Given the description of an element on the screen output the (x, y) to click on. 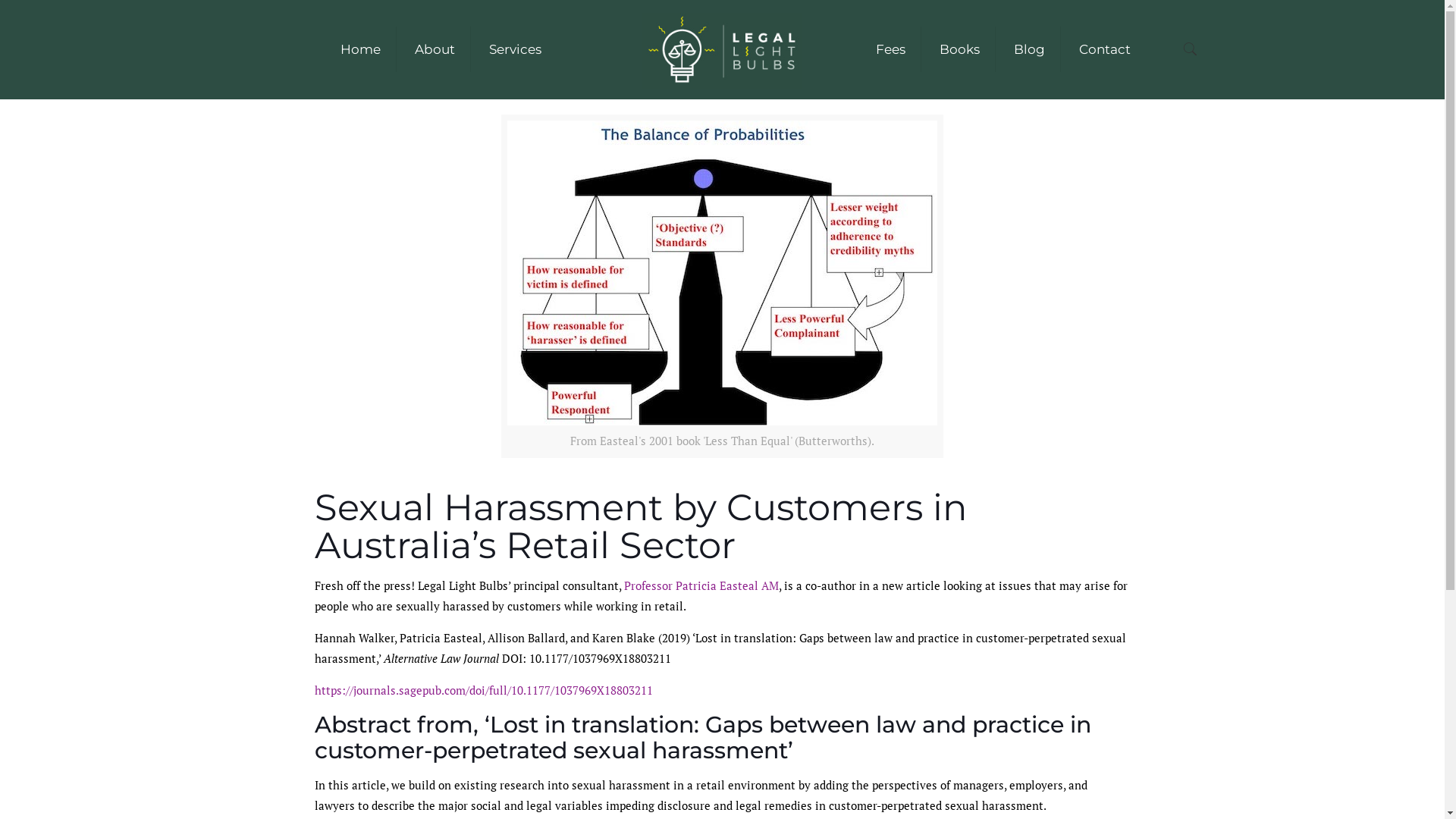
About Element type: text (434, 49)
Books Element type: text (959, 49)
Home Element type: text (360, 49)
Contact Element type: text (1104, 49)
Blog Element type: text (1029, 49)
Professor Patricia Easteal AM Element type: text (701, 585)
Fees Element type: text (890, 49)
Services Element type: text (514, 49)
Legal Light Bulbs Element type: hover (722, 49)
